Given the description of an element on the screen output the (x, y) to click on. 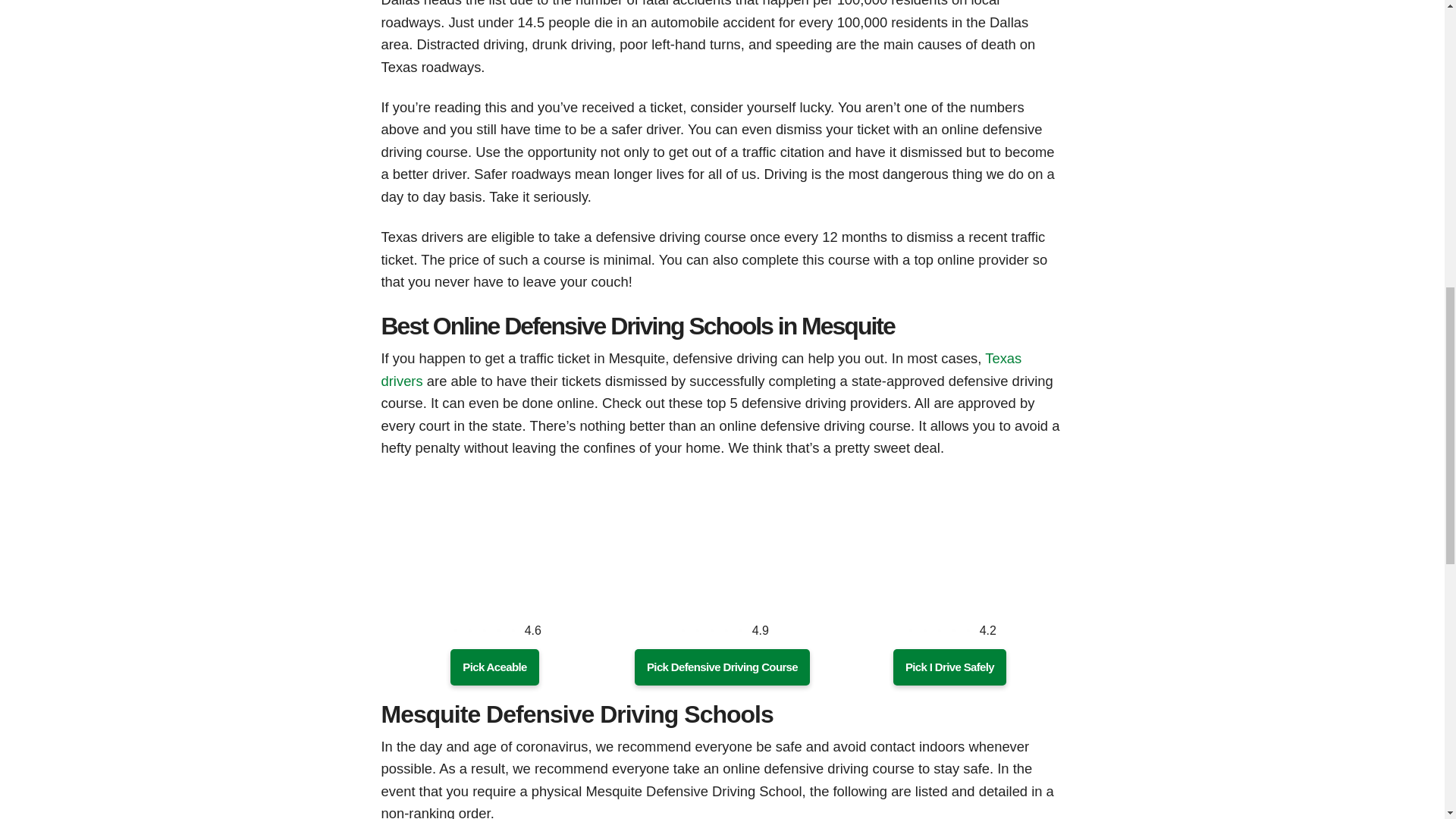
DefensiveDrivingCourse.com (722, 603)
Aceable (494, 603)
Pick Aceable (493, 667)
I Drive Safely (949, 603)
I Drive Safely (949, 667)
Texas drivers (701, 369)
Aceable (493, 667)
DefensiveDrivingCourse.com (721, 667)
Pick I Drive Safely (949, 667)
Pick Defensive Driving Course (721, 667)
